Given the description of an element on the screen output the (x, y) to click on. 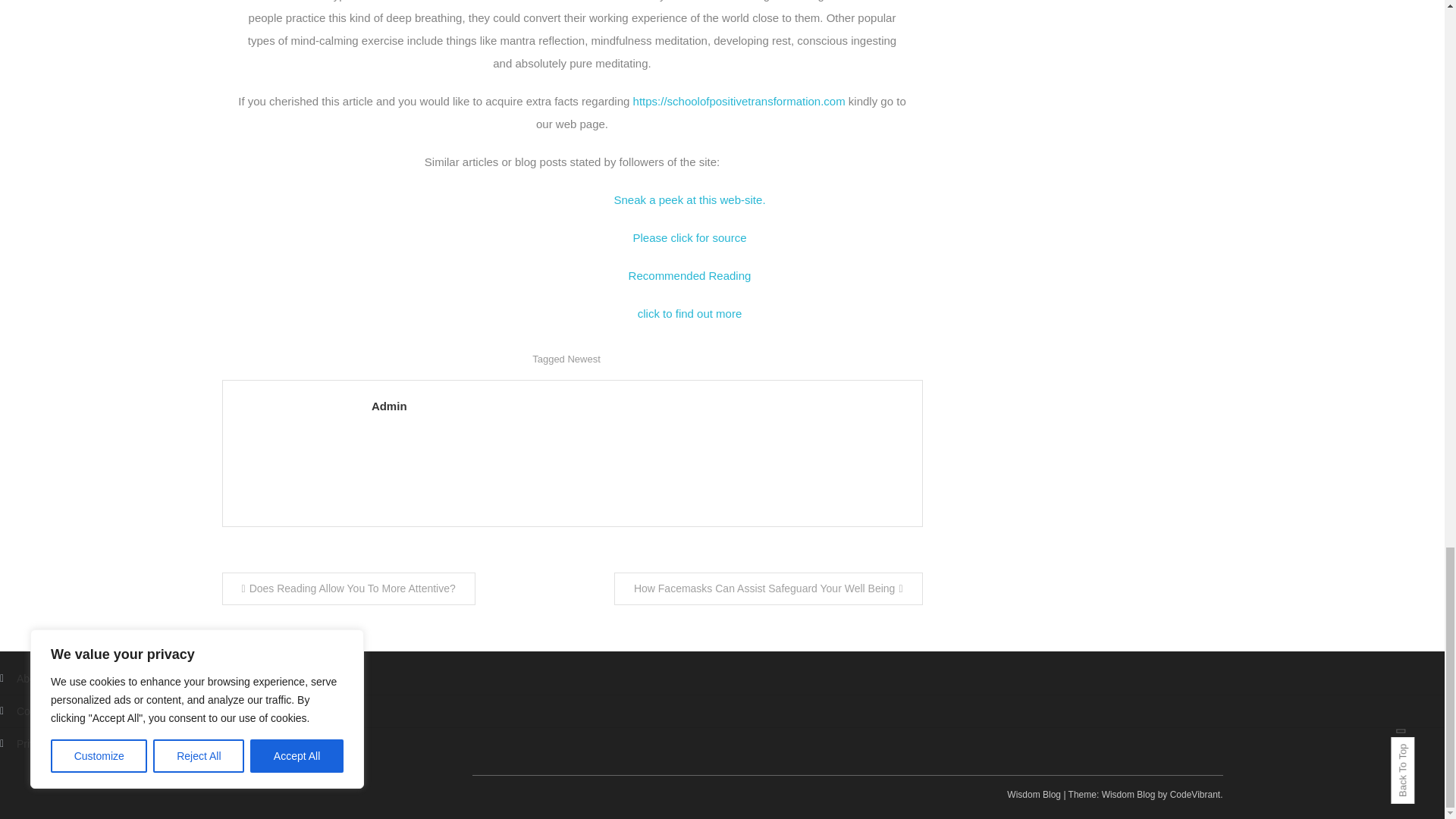
Newest (583, 358)
Admin (639, 405)
Recommended Reading (689, 275)
Please click for source (688, 237)
Sneak a peek at this web-site. (688, 199)
Does Reading Allow You To More Attentive? (347, 588)
How Facemasks Can Assist Safeguard Your Well Being (768, 588)
click to find out more (689, 313)
